Given the description of an element on the screen output the (x, y) to click on. 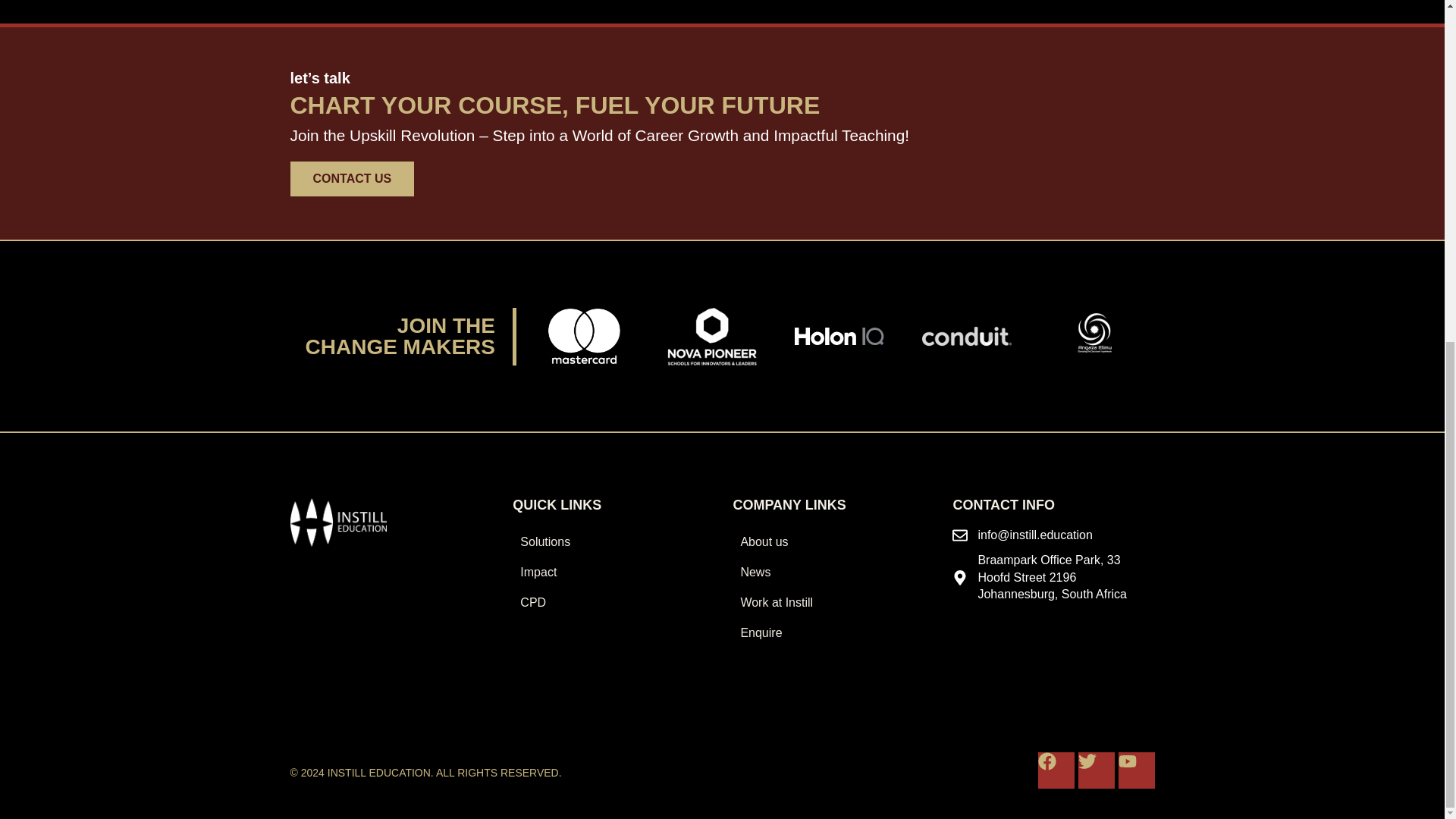
Work at Instill (833, 603)
Enquire (833, 633)
About us (833, 542)
CPD (613, 603)
CONTACT US (351, 178)
Impact (613, 572)
News (833, 572)
Solutions (613, 542)
